Given the description of an element on the screen output the (x, y) to click on. 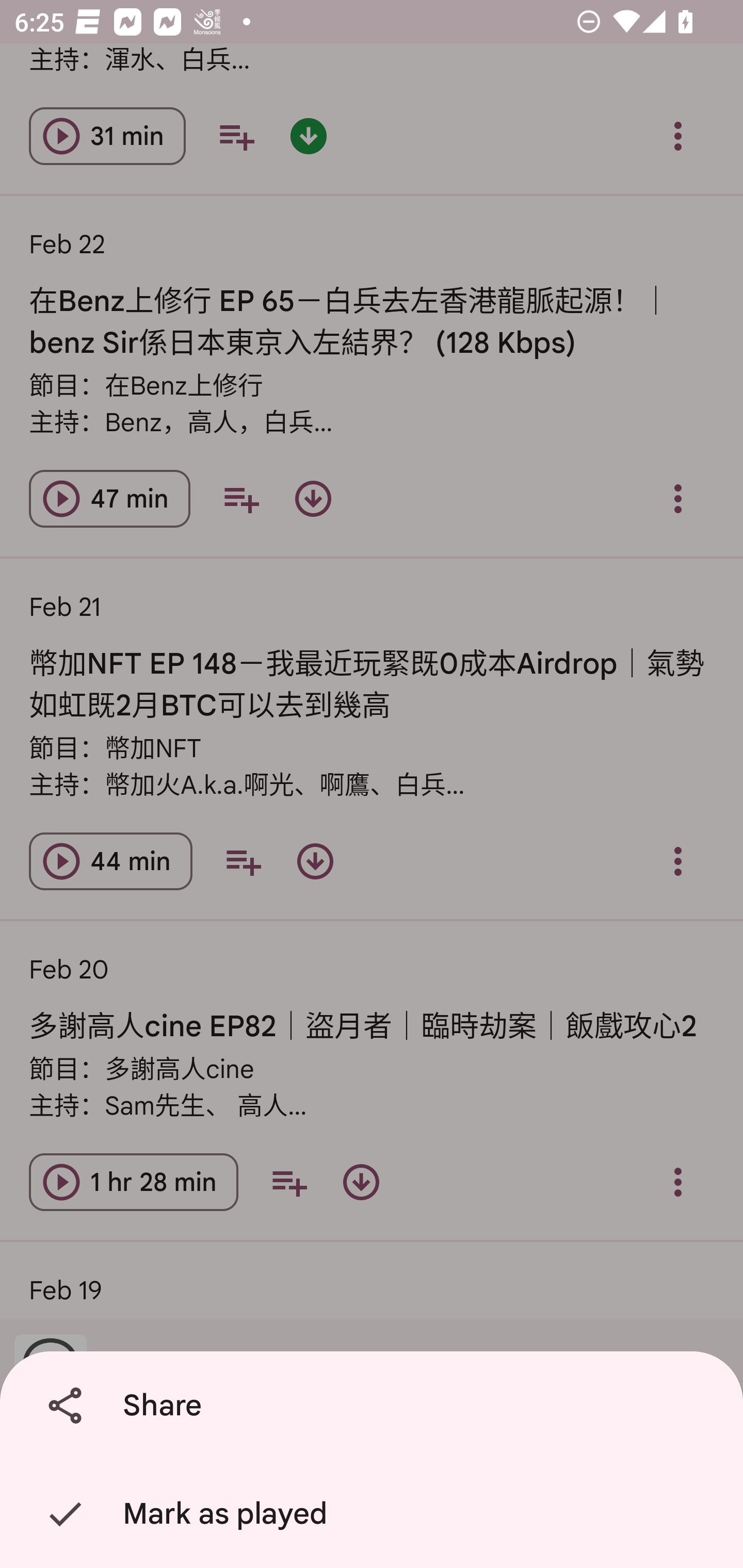
Share (375, 1405)
Mark as played (375, 1513)
